Given the description of an element on the screen output the (x, y) to click on. 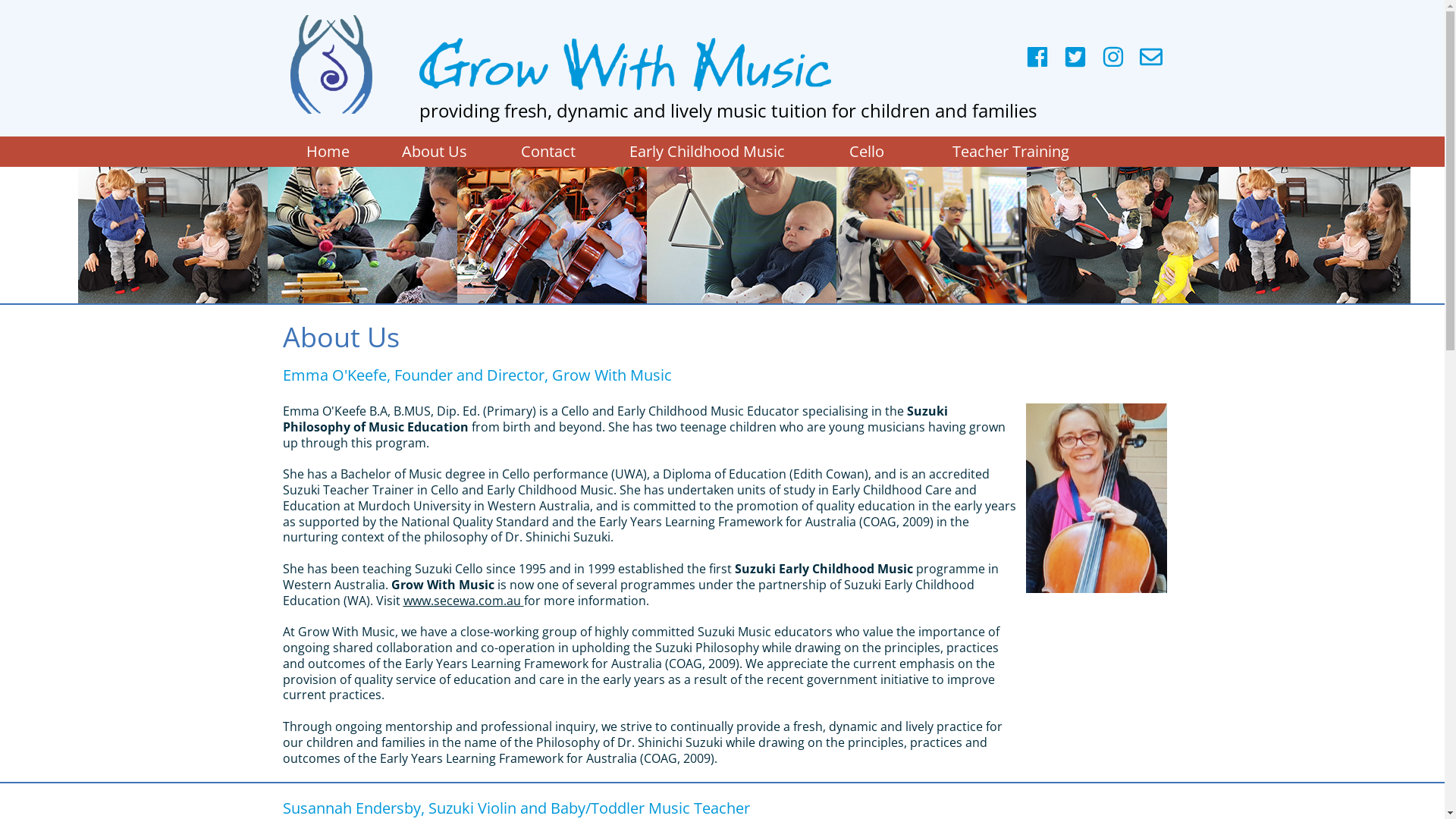
Early Childhood Music Element type: text (706, 151)
Teacher Training Element type: text (1010, 151)
About Us Element type: text (433, 151)
www.secewa.com.au Element type: text (461, 600)
Contact Element type: text (547, 151)
Home Element type: text (327, 151)
Cello Element type: text (865, 151)
